Given the description of an element on the screen output the (x, y) to click on. 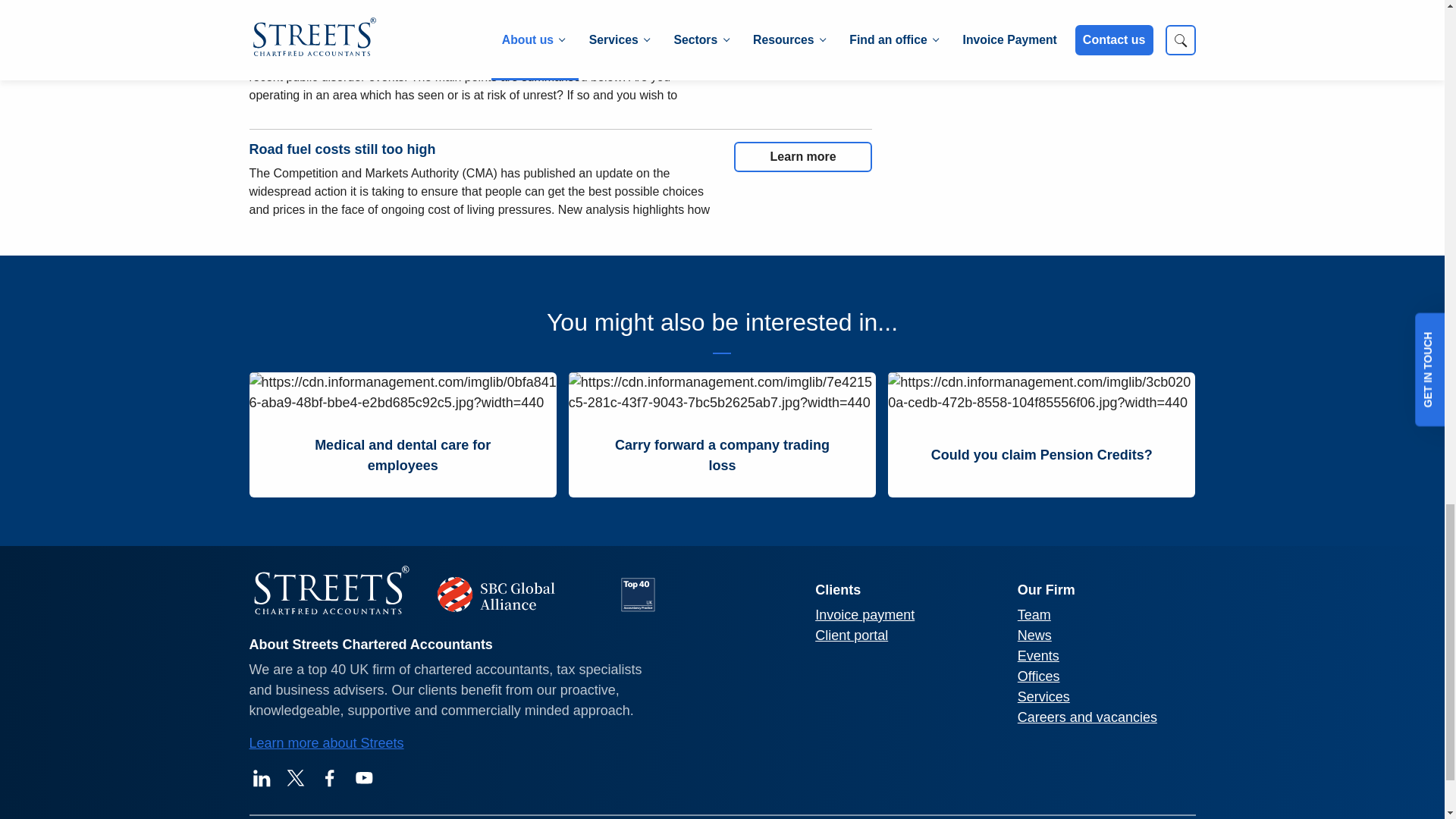
Read Carry forward a company trading loss (722, 454)
Read Guidance for charities on managing public disorder (801, 42)
Read Road fuel costs still too high (801, 156)
Read Medical and dental care for employees (402, 454)
